Given the description of an element on the screen output the (x, y) to click on. 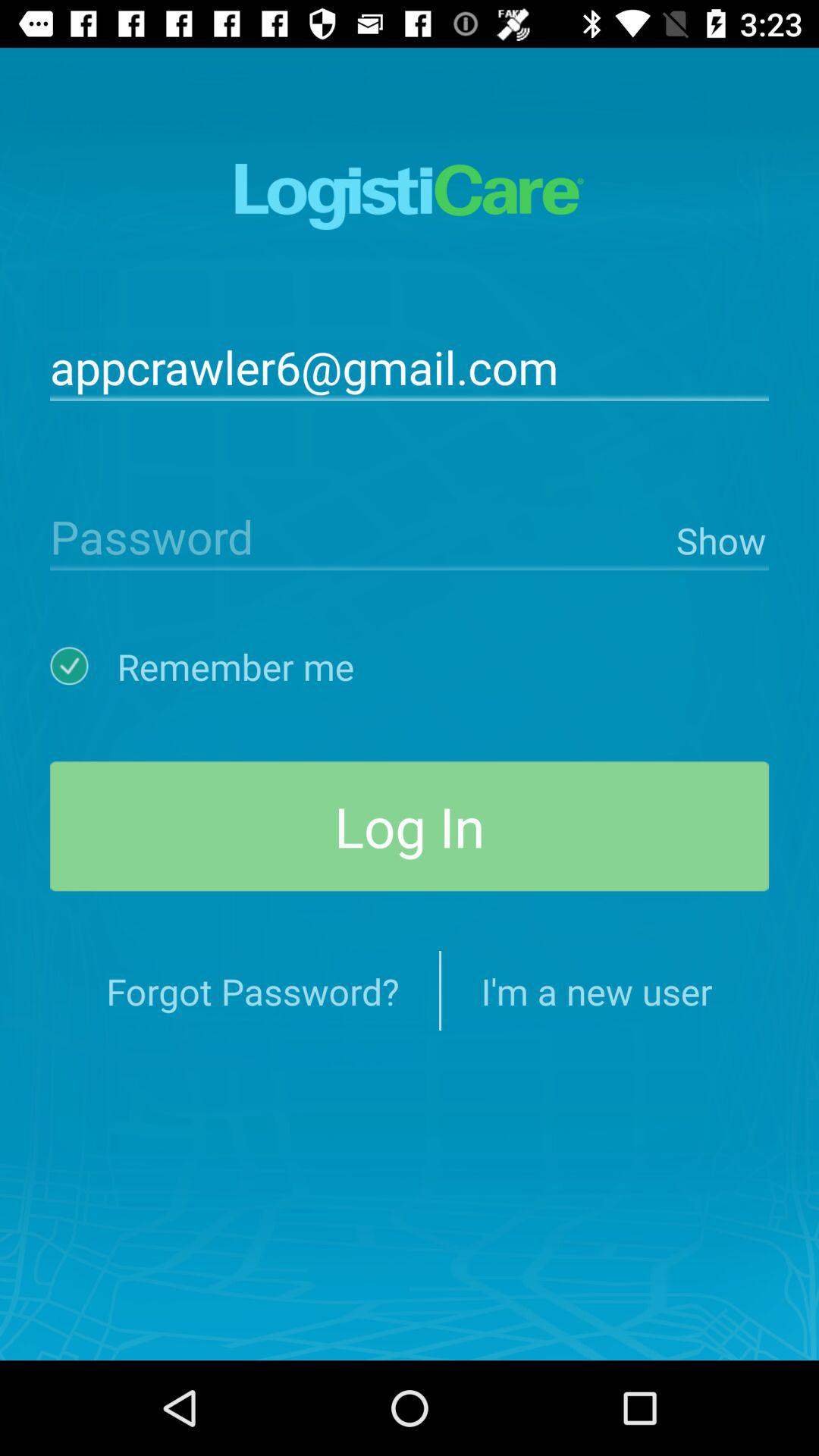
tick to save the email and password (83, 665)
